Given the description of an element on the screen output the (x, y) to click on. 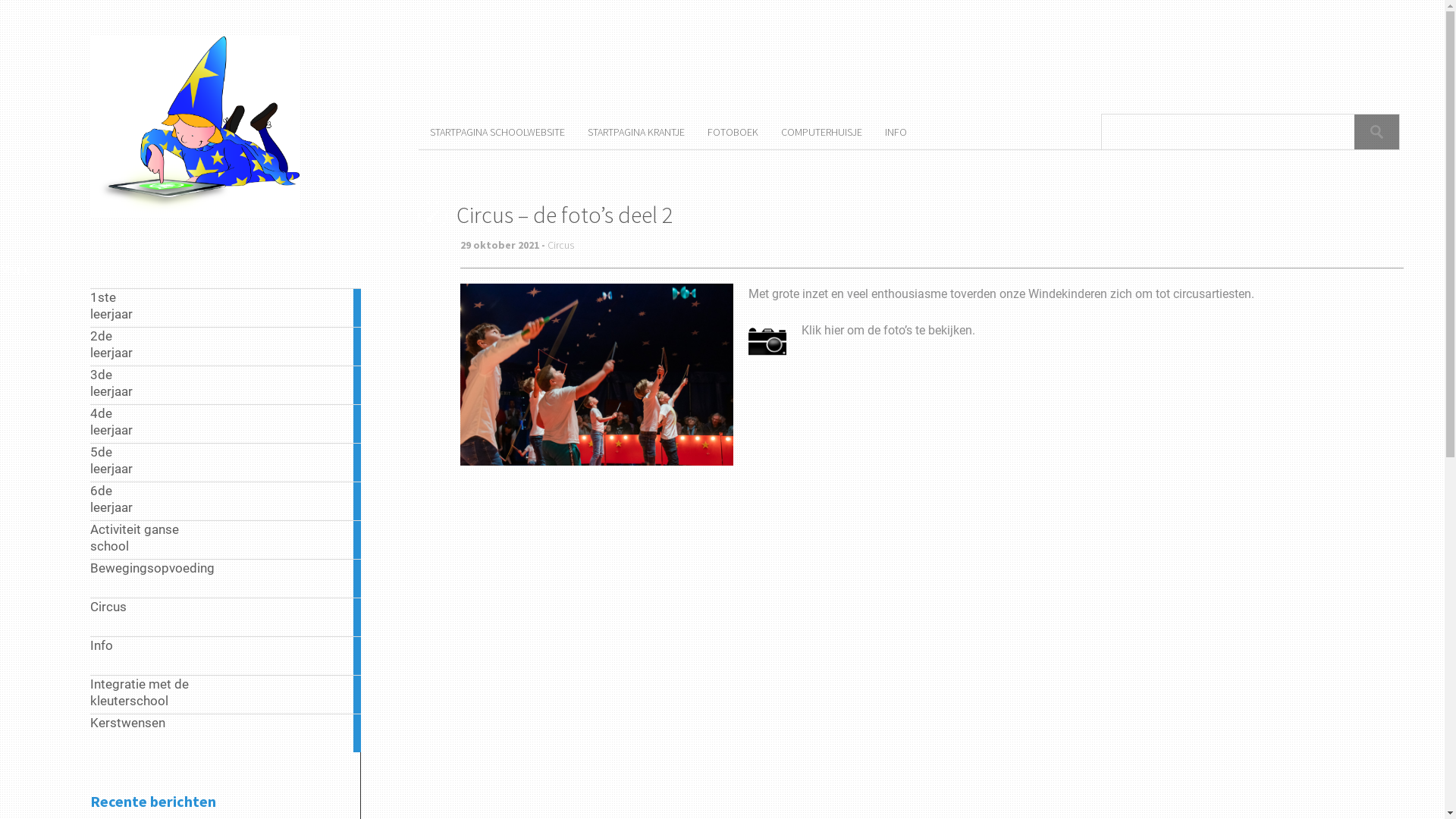
Circus Element type: text (560, 244)
5de leerjaar Element type: text (225, 461)
Circus Element type: text (225, 616)
Activiteit ganse school Element type: text (225, 539)
Gesubsidieerde Vrije Lagere Oefenschool Element type: hover (194, 214)
  Element type: text (1376, 131)
FOTOBOEK Element type: text (744, 131)
STARTPAGINA KRANTJE Element type: text (647, 131)
2de leerjaar Element type: text (225, 345)
Zoeken naar: Element type: hover (1227, 131)
STARTPAGINA SCHOOLWEBSITE Element type: text (508, 131)
INFO Element type: text (907, 131)
Bewegingsopvoeding Element type: text (225, 577)
Kerstwensen Element type: text (225, 732)
COMPUTERHUISJE Element type: text (832, 131)
6de leerjaar Element type: text (225, 500)
Info Element type: text (225, 655)
1ste leerjaar Element type: text (225, 307)
Integratie met de kleuterschool Element type: text (225, 693)
4de leerjaar Element type: text (225, 423)
3de leerjaar Element type: text (225, 384)
